Given the description of an element on the screen output the (x, y) to click on. 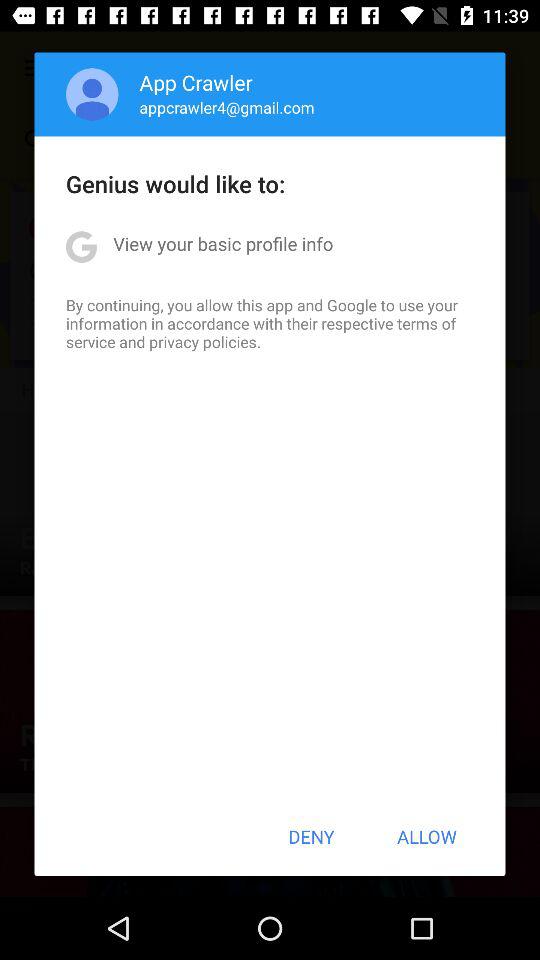
launch deny icon (311, 836)
